Given the description of an element on the screen output the (x, y) to click on. 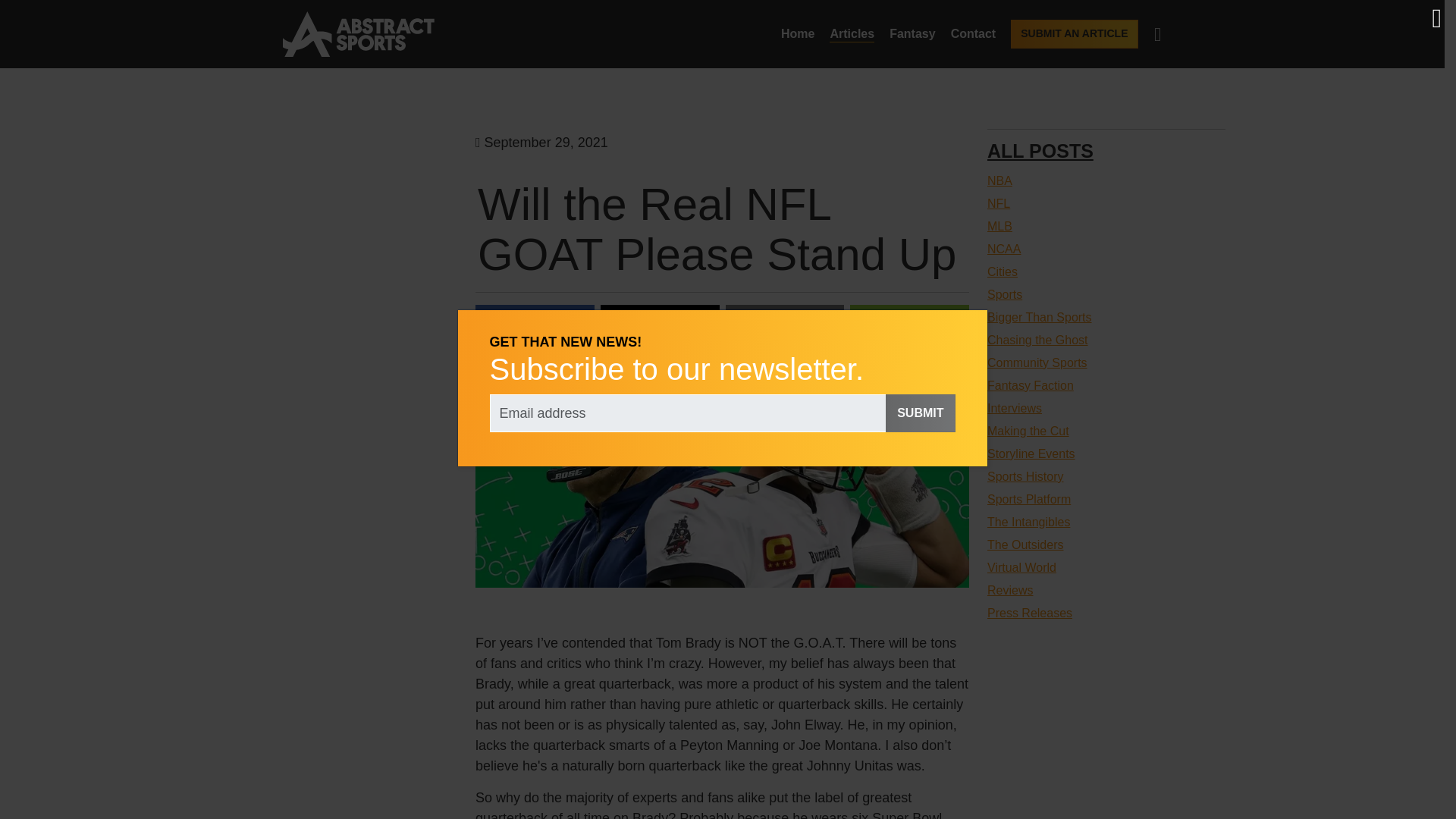
Fantasy (912, 33)
SUBMIT AN ARTICLE (1073, 33)
Abstract Sports (357, 33)
